Given the description of an element on the screen output the (x, y) to click on. 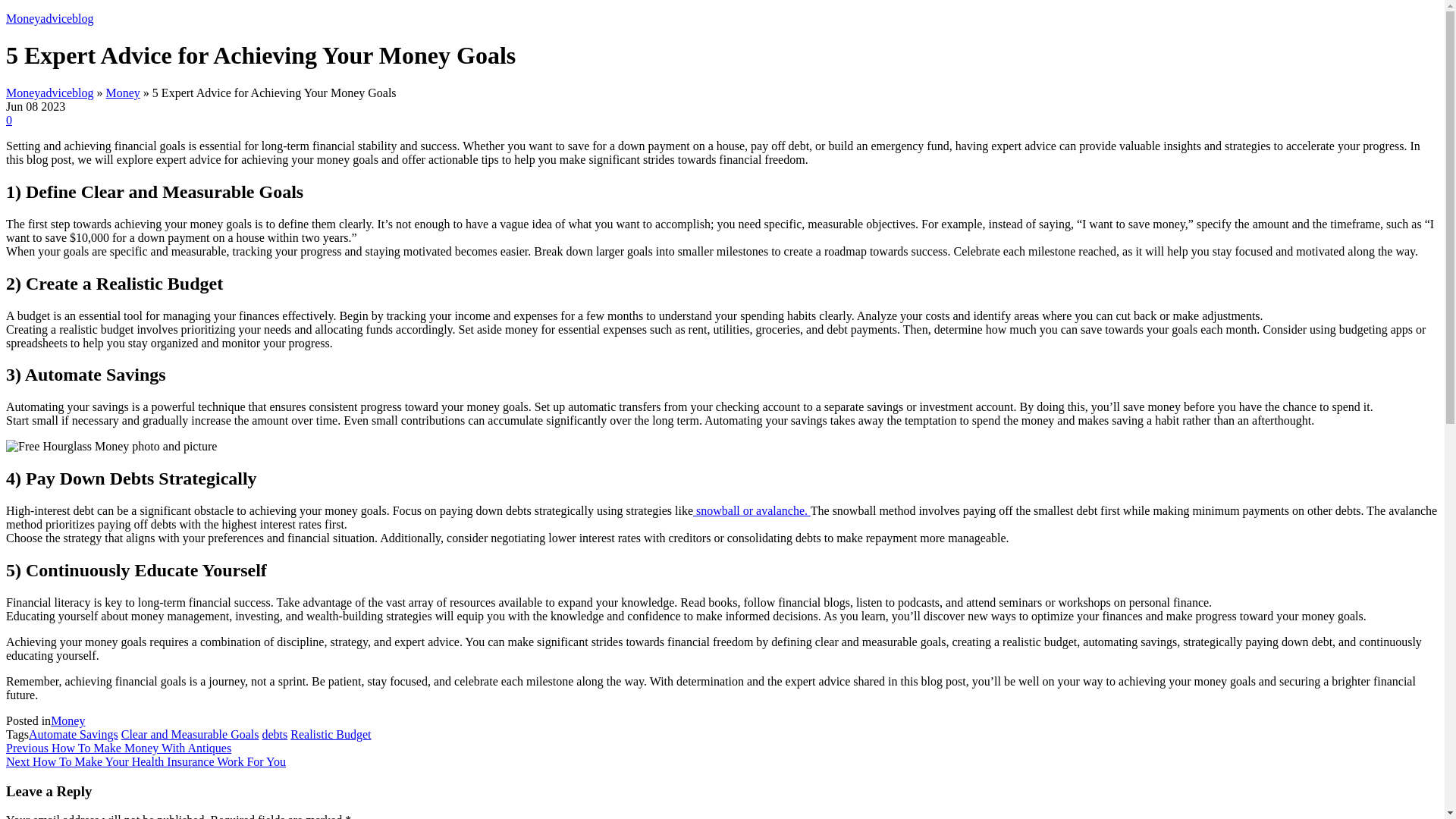
Moneyadviceblog (49, 92)
Clear and Measurable Goals (189, 734)
Money (67, 720)
Realistic Budget (330, 734)
snowball or avalanche. (751, 510)
debts (274, 734)
Moneyadviceblog (49, 18)
